Given the description of an element on the screen output the (x, y) to click on. 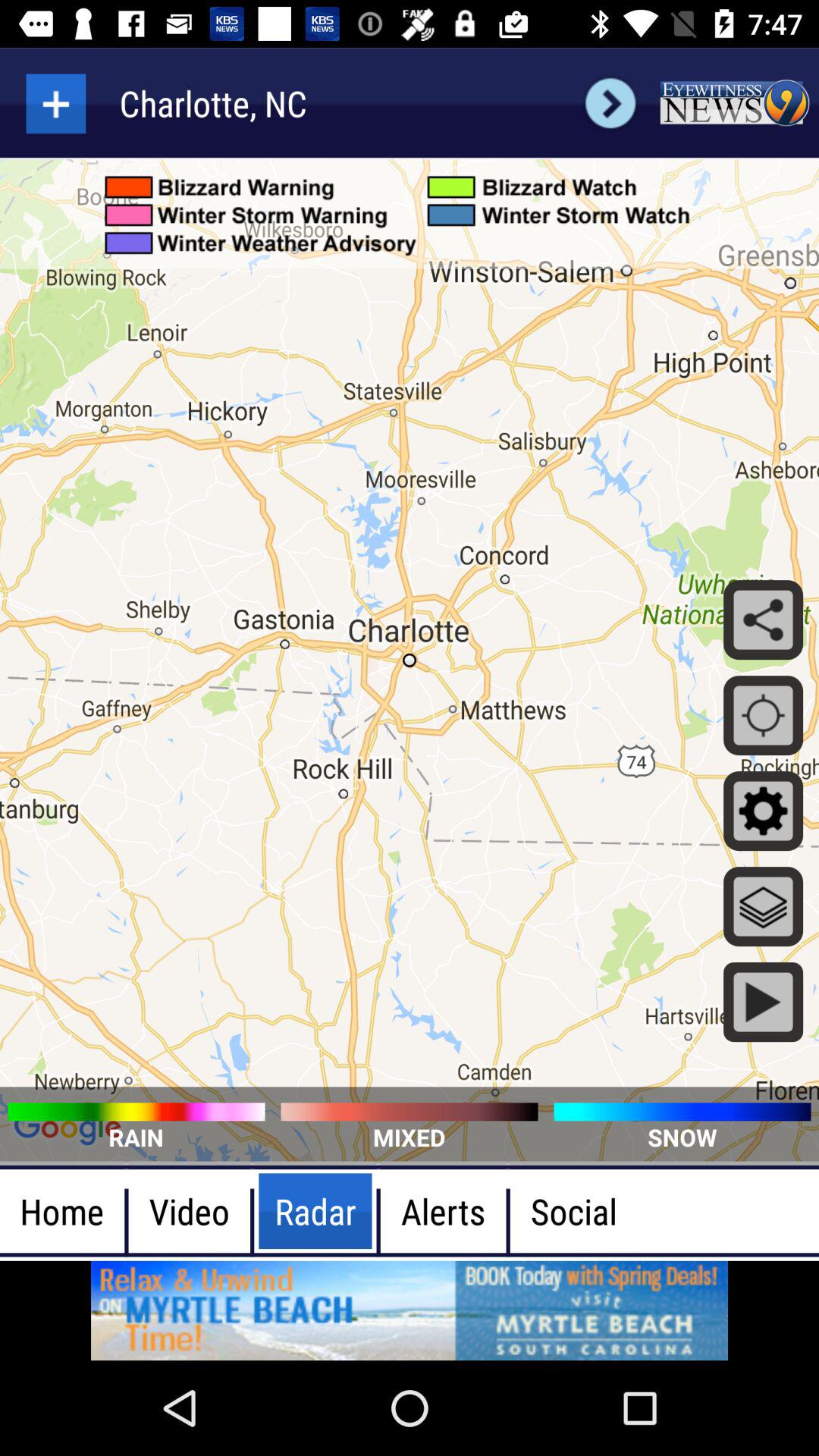
advertisement (409, 1310)
